Given the description of an element on the screen output the (x, y) to click on. 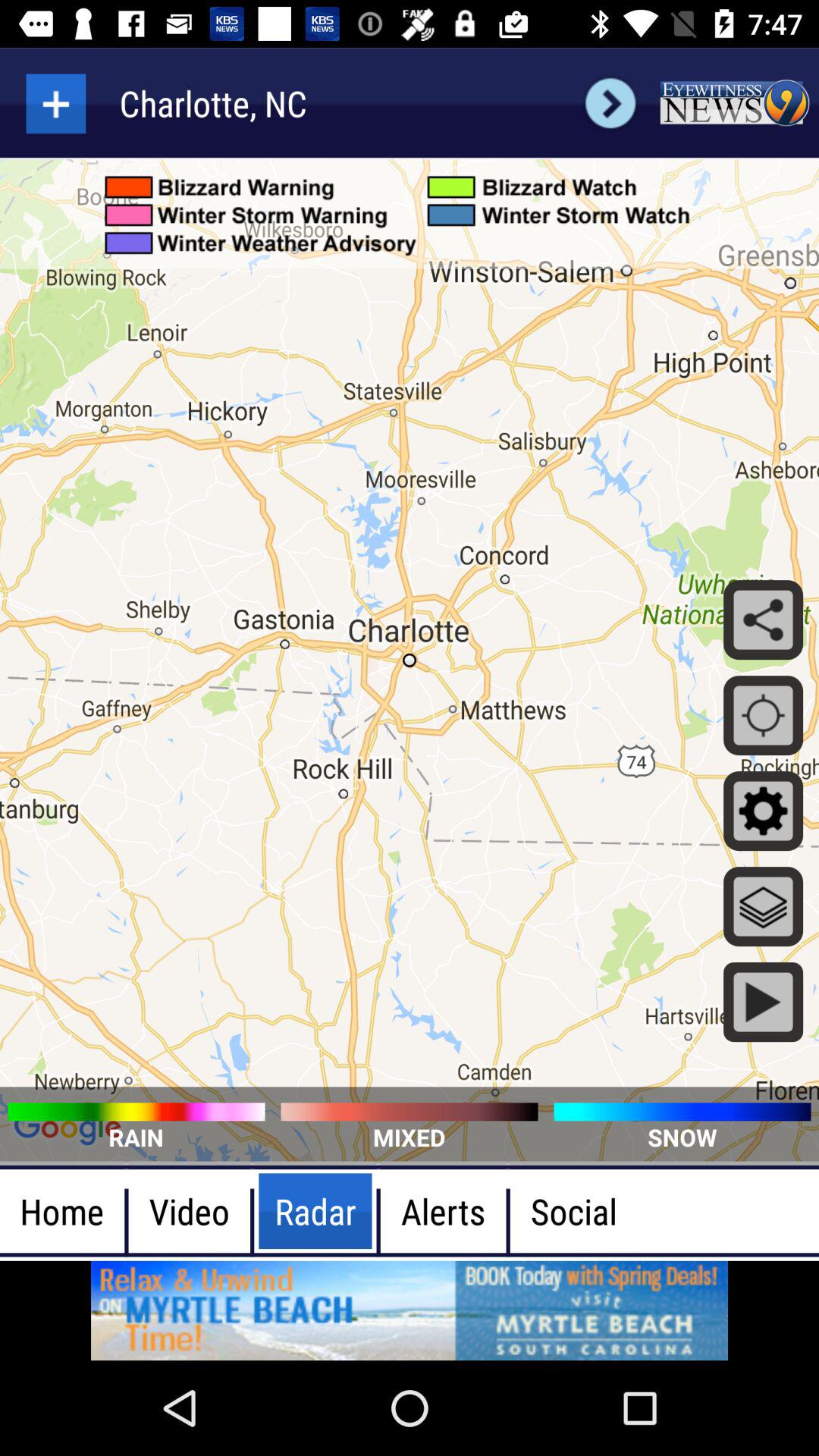
advertisement (409, 1310)
